Given the description of an element on the screen output the (x, y) to click on. 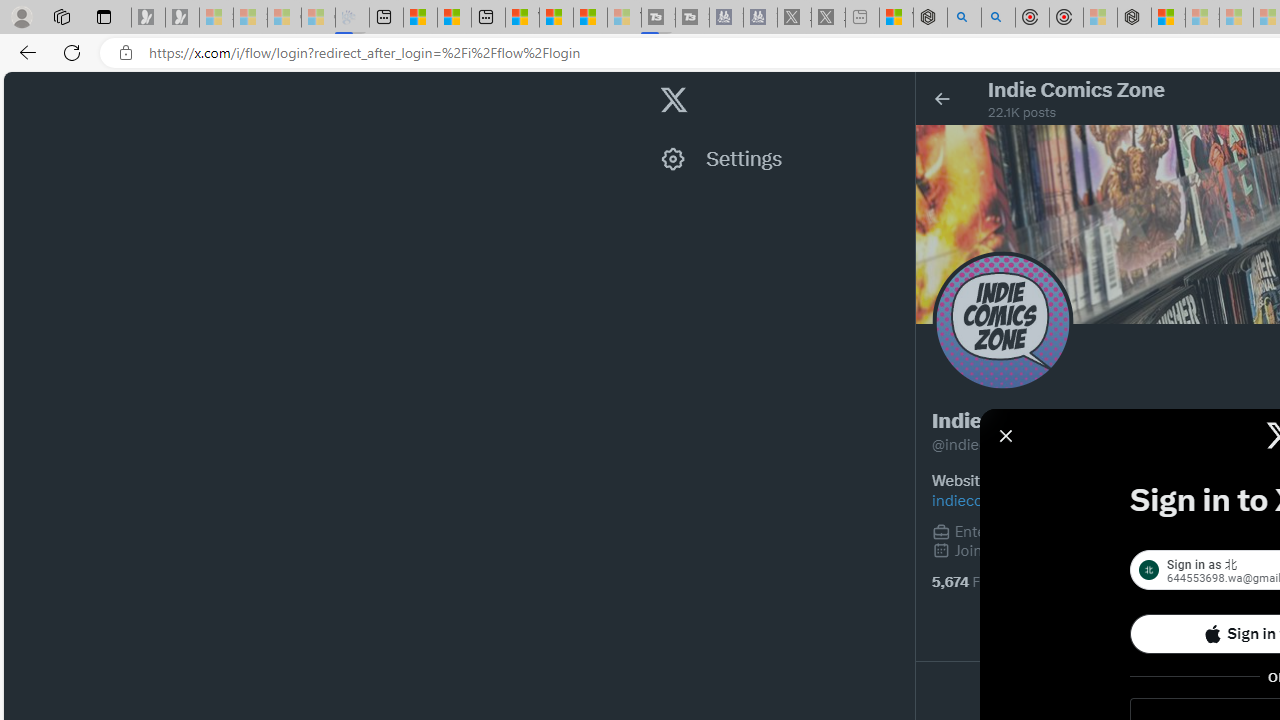
Streaming Coverage | T3 - Sleeping (658, 17)
Wildlife - MSN (895, 17)
poe ++ standard - Search (998, 17)
X - Sleeping (827, 17)
